Given the description of an element on the screen output the (x, y) to click on. 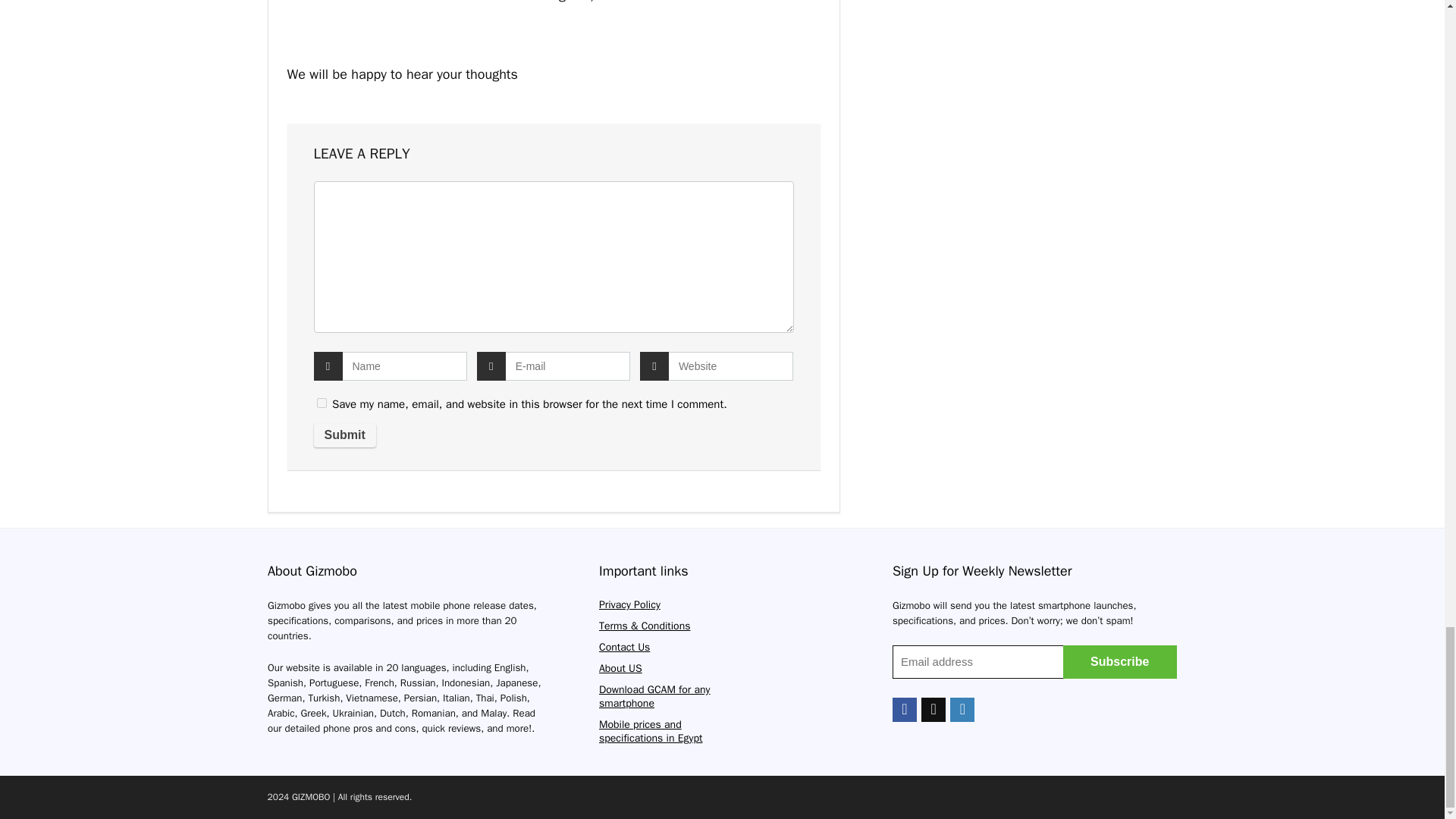
Submit (344, 435)
Subscribe (1119, 661)
yes (321, 402)
Submit (344, 435)
